Given the description of an element on the screen output the (x, y) to click on. 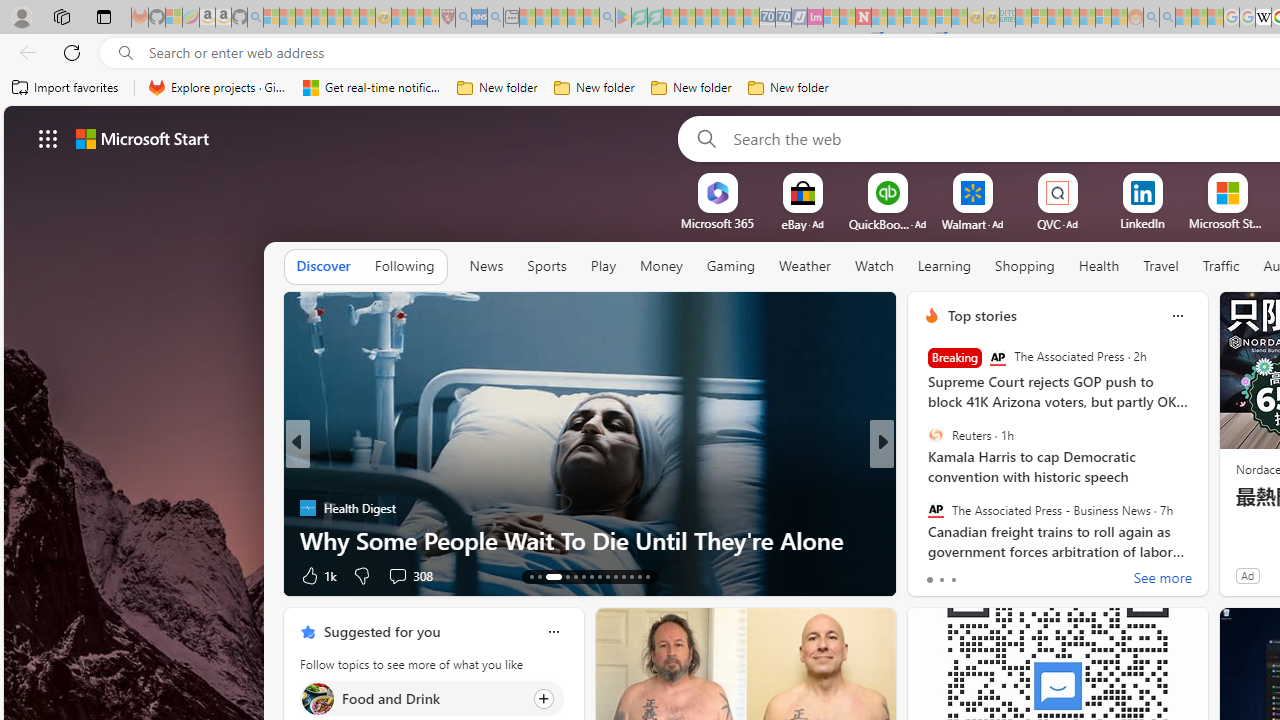
View comments 31 Comment (1019, 575)
2k Like (933, 574)
Import favorites (65, 88)
AutomationID: tab-20 (599, 576)
